Given the description of an element on the screen output the (x, y) to click on. 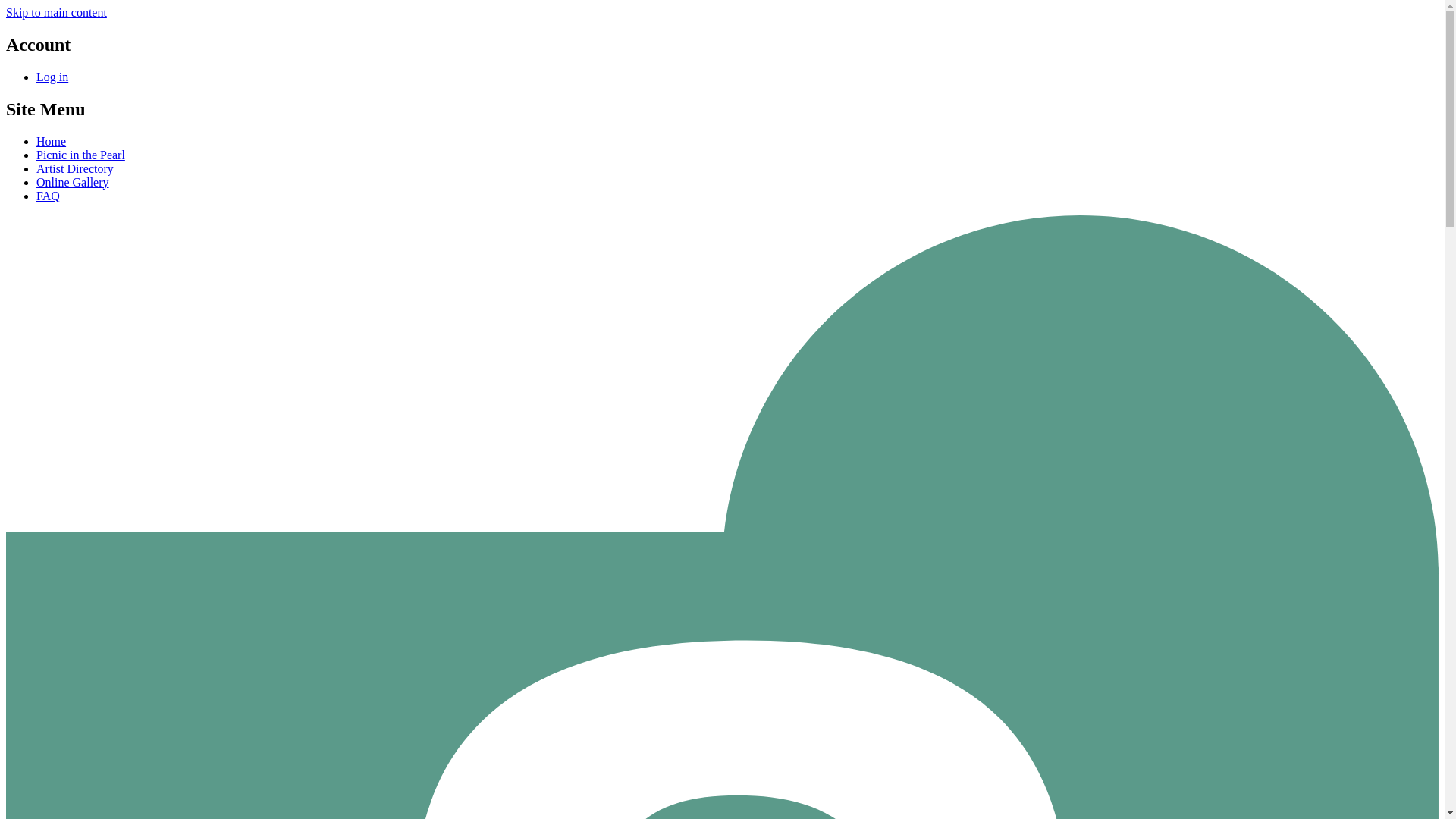
Online Gallery (72, 182)
FAQ (47, 195)
Log in (52, 76)
Skip to main content (55, 11)
Frequently Asked Questions (47, 195)
Home (50, 141)
Artist Directory (74, 168)
Picnic in the Pearl (80, 154)
